Given the description of an element on the screen output the (x, y) to click on. 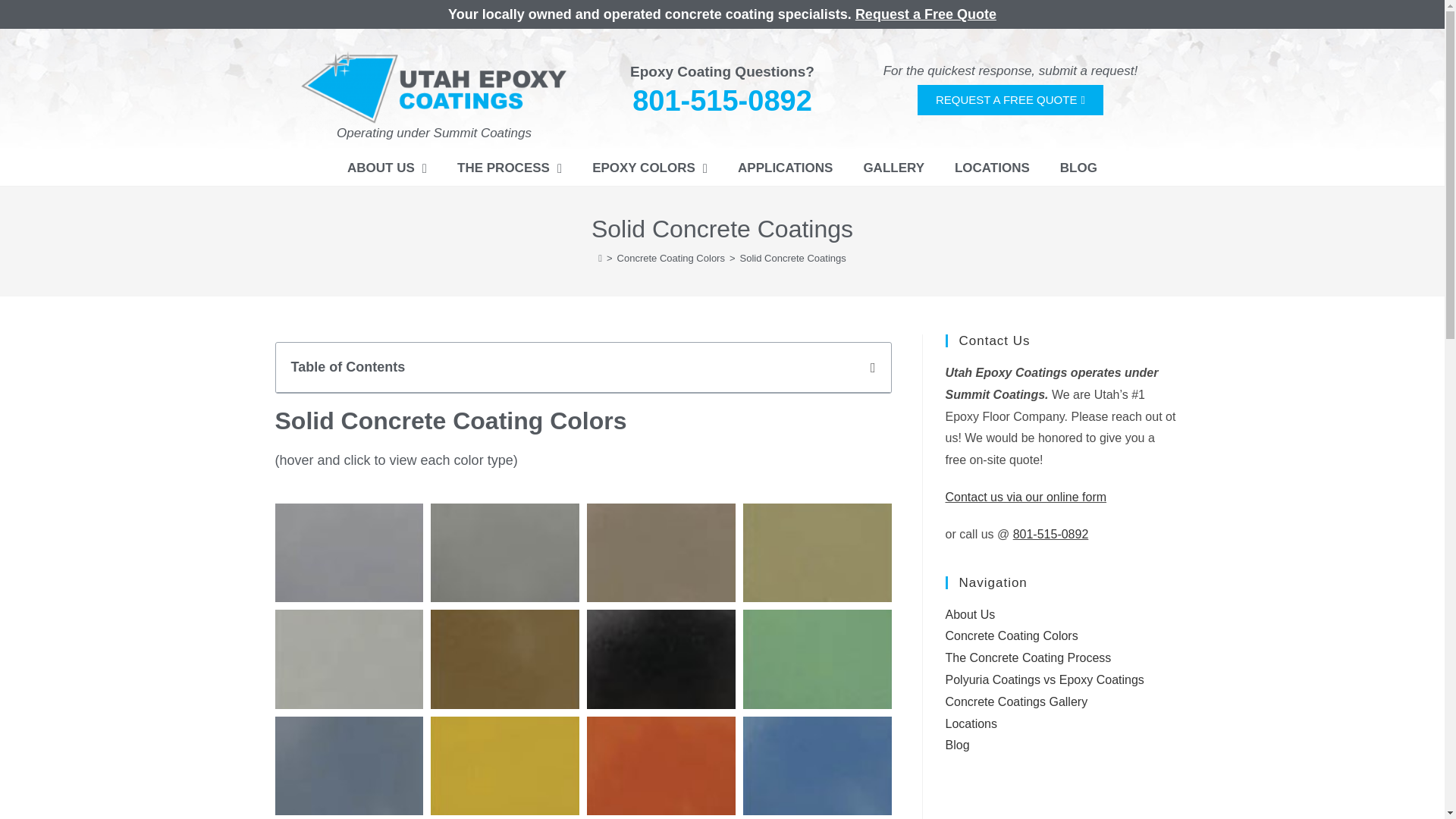
Solid Concrete Coatings (792, 257)
GALLERY (893, 167)
LOCATIONS (992, 167)
Concrete Coating Colors (671, 257)
EPOXY COLORS (649, 167)
801-515-0892 (721, 101)
THE PROCESS (509, 167)
BLOG (1078, 167)
REQUEST A FREE QUOTE (1010, 100)
ABOUT US (386, 167)
APPLICATIONS (784, 167)
